Given the description of an element on the screen output the (x, y) to click on. 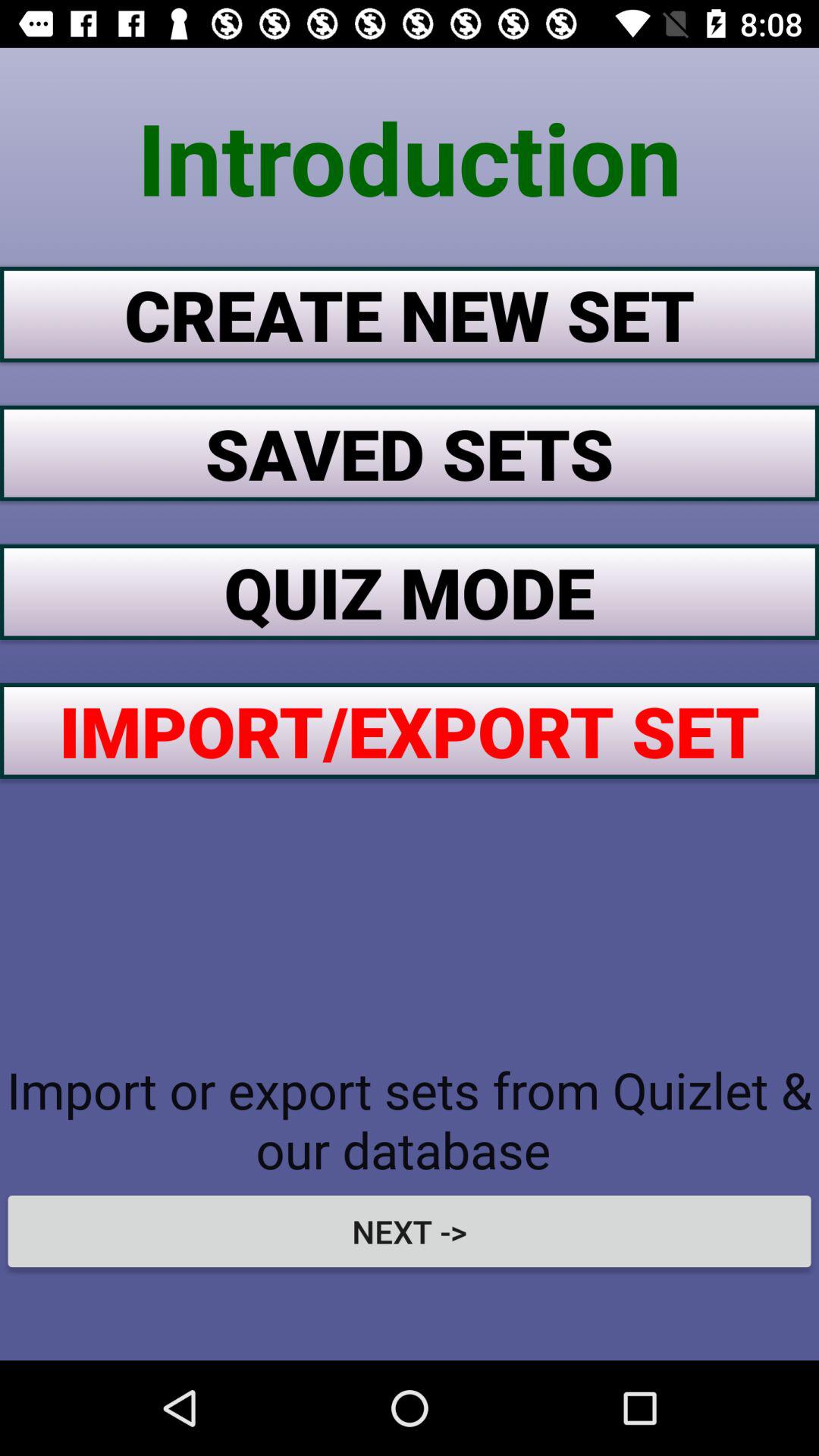
scroll until the saved sets button (409, 453)
